Given the description of an element on the screen output the (x, y) to click on. 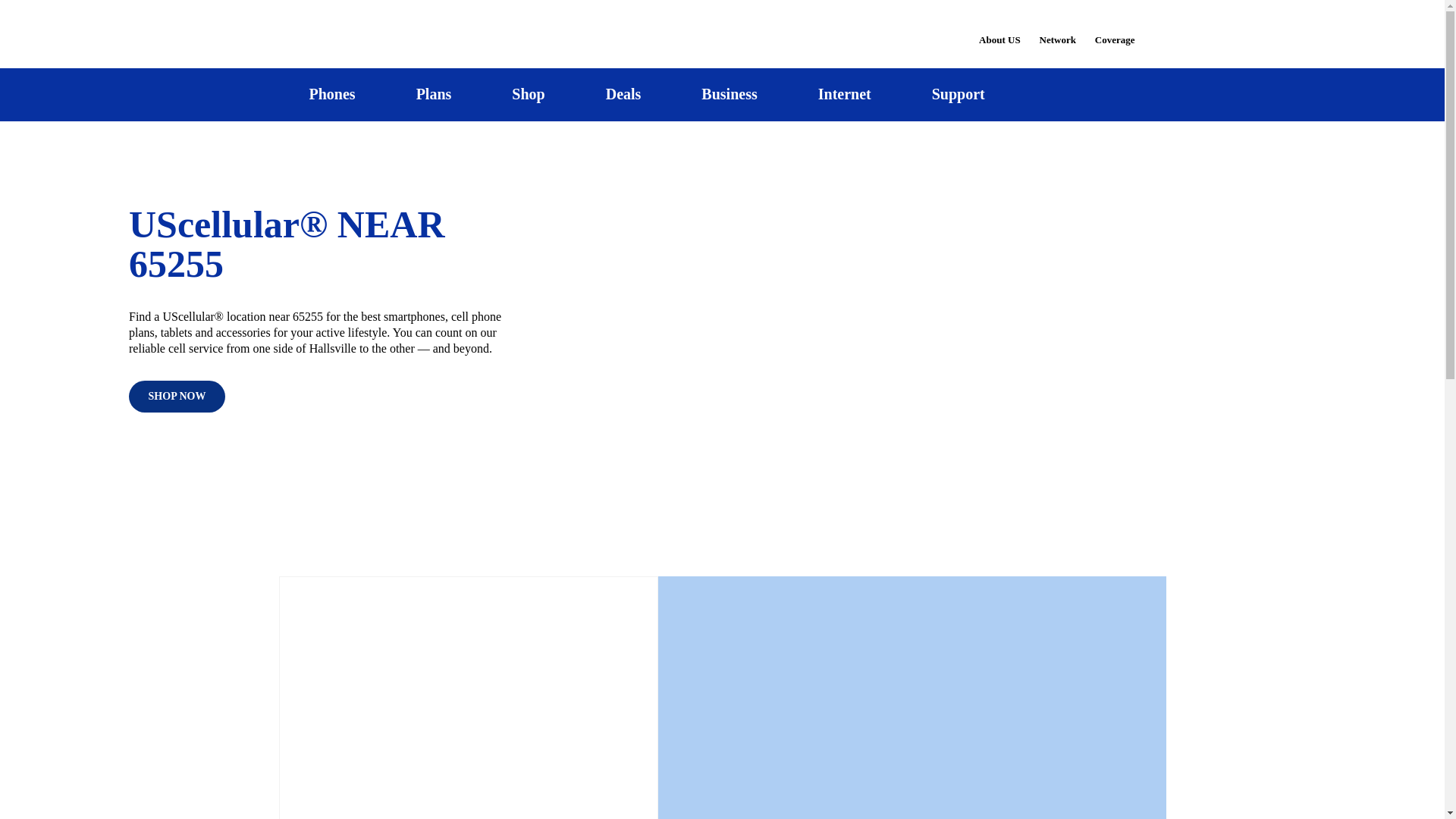
Business (729, 94)
Coverage (1115, 29)
Support (957, 94)
Phones (332, 94)
About US (999, 30)
Deals (623, 94)
Plans (433, 94)
Network (1057, 30)
SHOP NOW (177, 396)
Shop (528, 94)
